Given the description of an element on the screen output the (x, y) to click on. 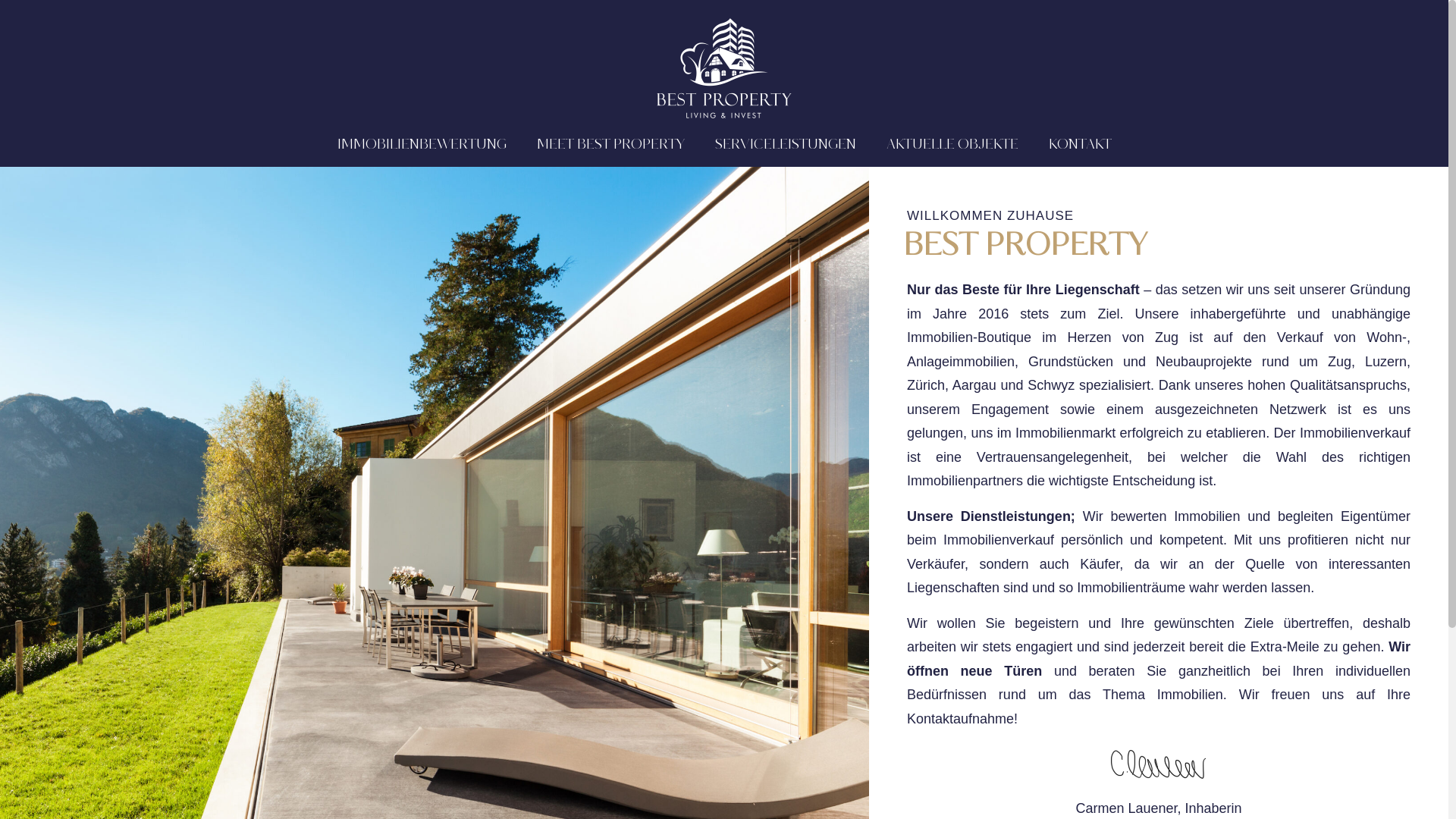
IMMOBILIENBEWERTUNG Element type: text (420, 144)
MEET BEST PROPERTY Element type: text (610, 144)
BEST-PROPERTY-Logo_Basic_Negativ_gross Element type: hover (724, 68)
SERVICELEISTUNGEN Element type: text (784, 144)
KONTAKT Element type: text (1079, 144)
AKTUELLE OBJEKTE Element type: text (951, 144)
